Given the description of an element on the screen output the (x, y) to click on. 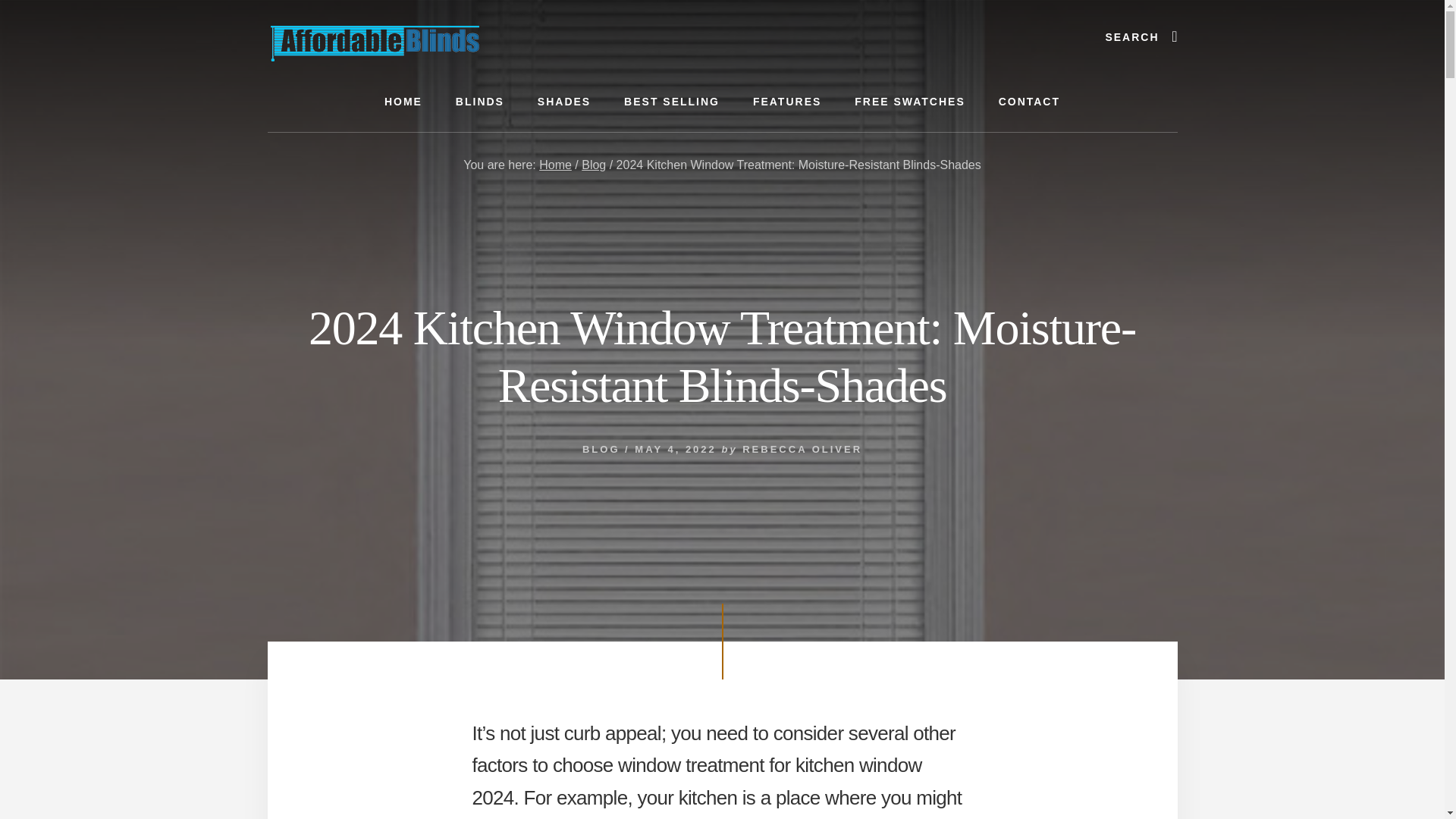
SHADES (563, 101)
Blog (592, 164)
REBECCA OLIVER (801, 449)
CONTACT (1029, 101)
FEATURES (786, 101)
BLOG (601, 449)
